Given the description of an element on the screen output the (x, y) to click on. 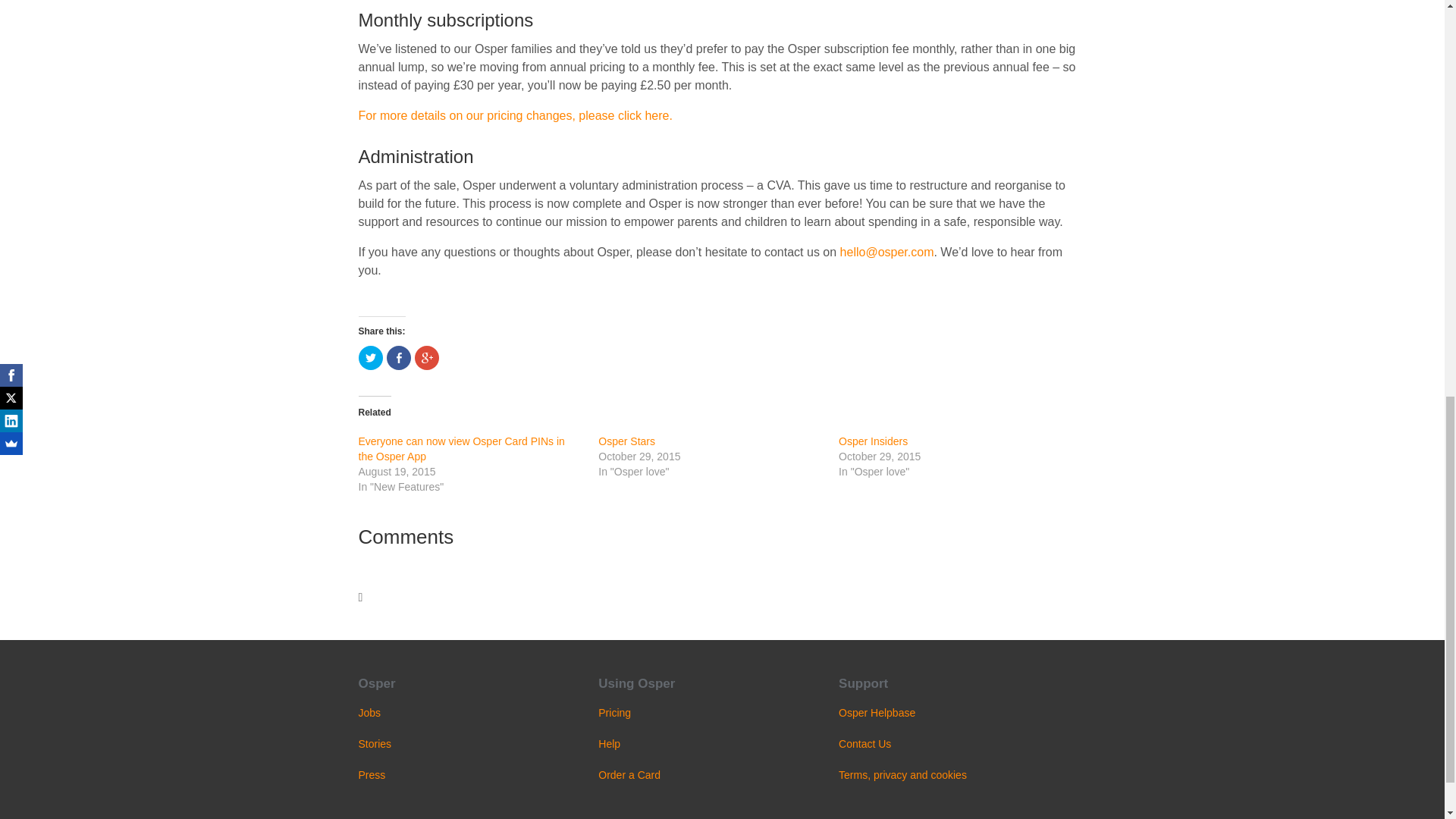
Stories (374, 743)
Contact Us (864, 743)
Click to share on Twitter (369, 357)
Osper Stars (626, 440)
Osper Helpbase (876, 712)
Everyone can now view Osper Card PINs in the Osper App (461, 448)
Terms, privacy and cookies (902, 775)
Order a Card (629, 775)
Press (371, 775)
Pricing (614, 712)
Share on Facebook (398, 357)
Jobs (369, 712)
For more details on our pricing changes, please click here. (514, 115)
Help (609, 743)
Osper Insiders (872, 440)
